Given the description of an element on the screen output the (x, y) to click on. 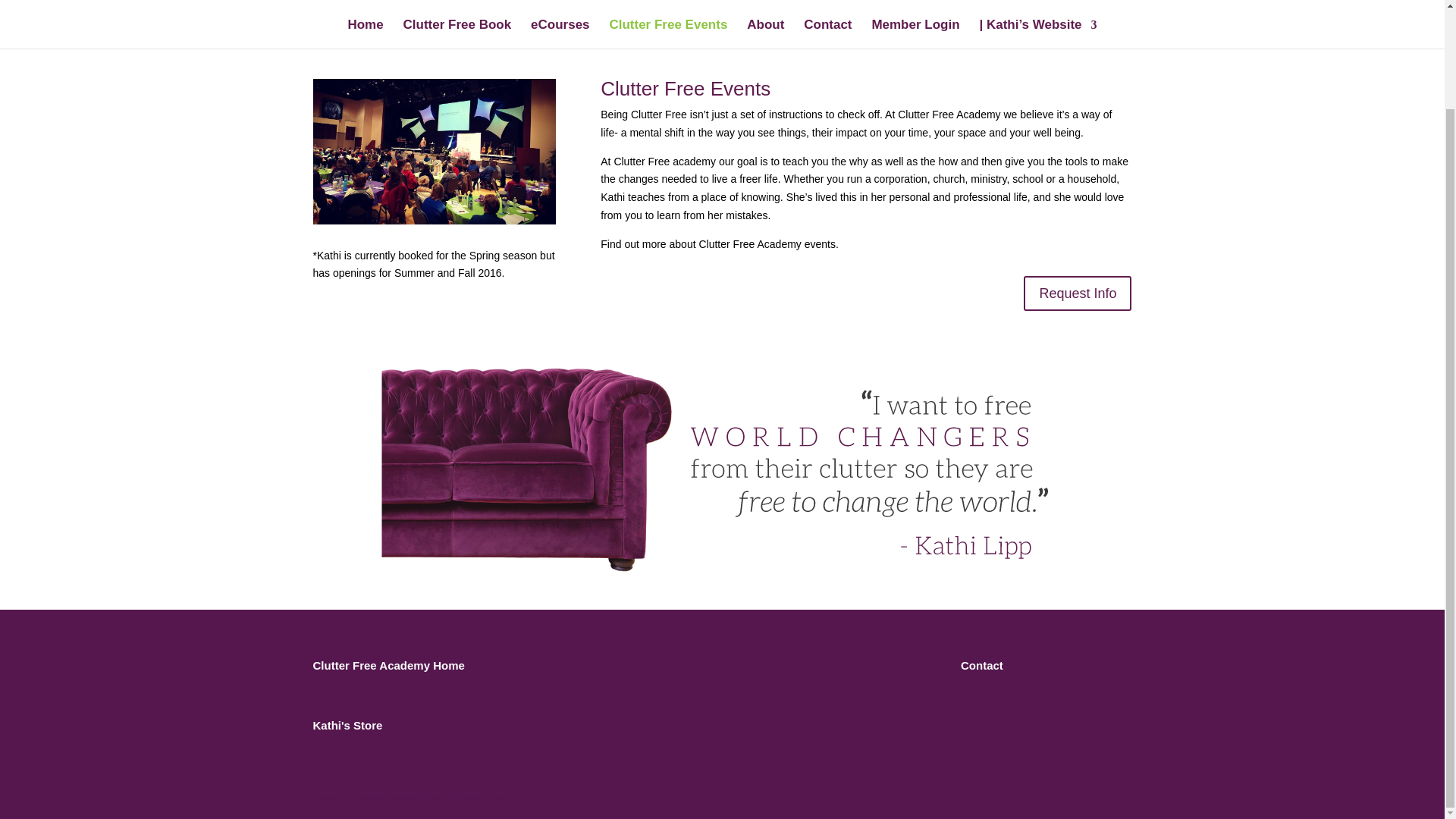
About (765, 33)
WordPress (483, 797)
Home (364, 33)
Premium WordPress Themes (385, 797)
Elegant Themes (385, 797)
Clutter Free Academy Home (388, 665)
Clutter Free Events (667, 33)
Clutter Free Book (457, 33)
Contact (827, 33)
eCourses (560, 33)
